Given the description of an element on the screen output the (x, y) to click on. 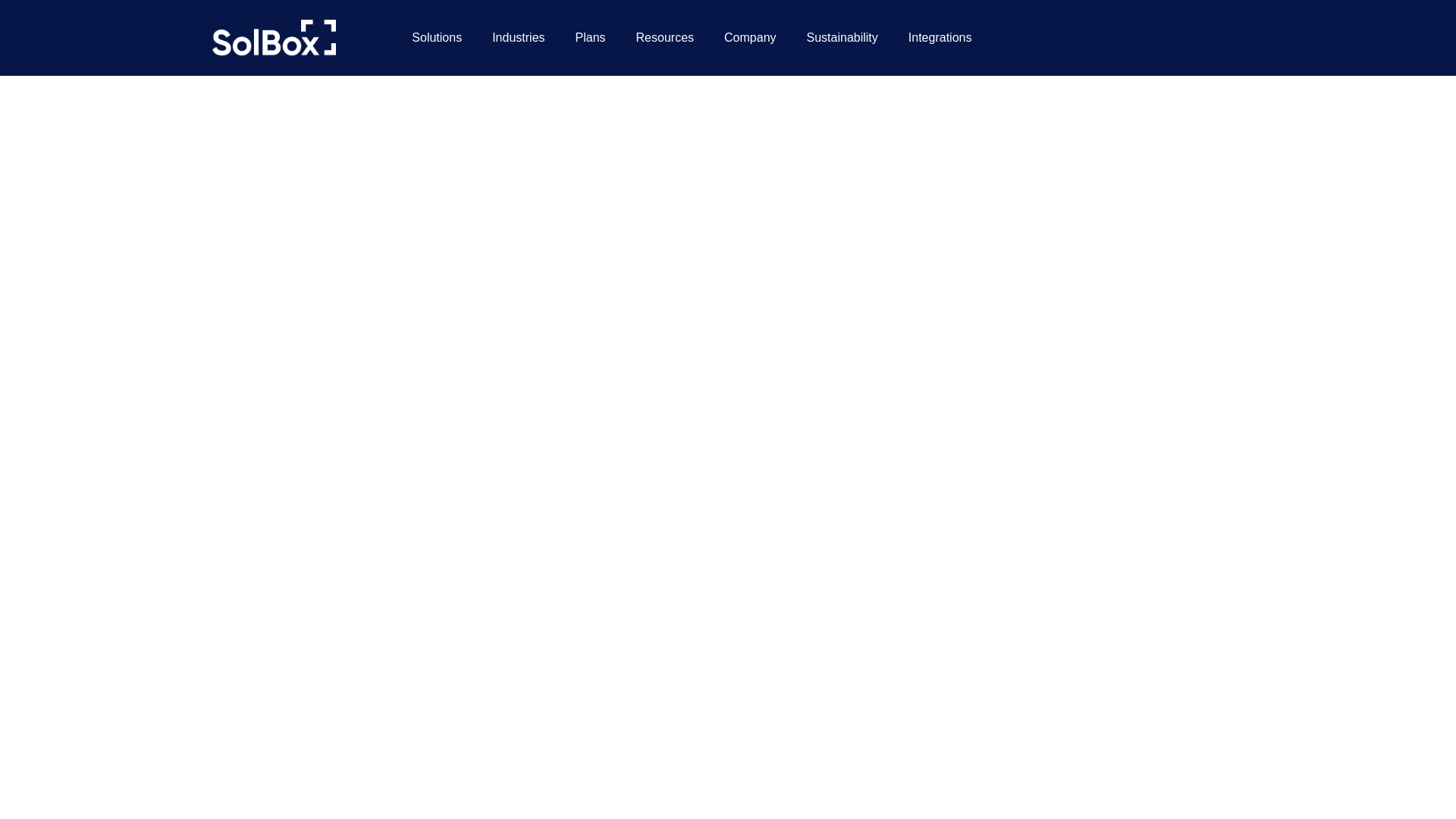
Company (749, 37)
Solutions (436, 37)
Resources (665, 37)
Industries (518, 37)
Sustainability (842, 37)
Plans (590, 37)
Integrations (940, 37)
